Given the description of an element on the screen output the (x, y) to click on. 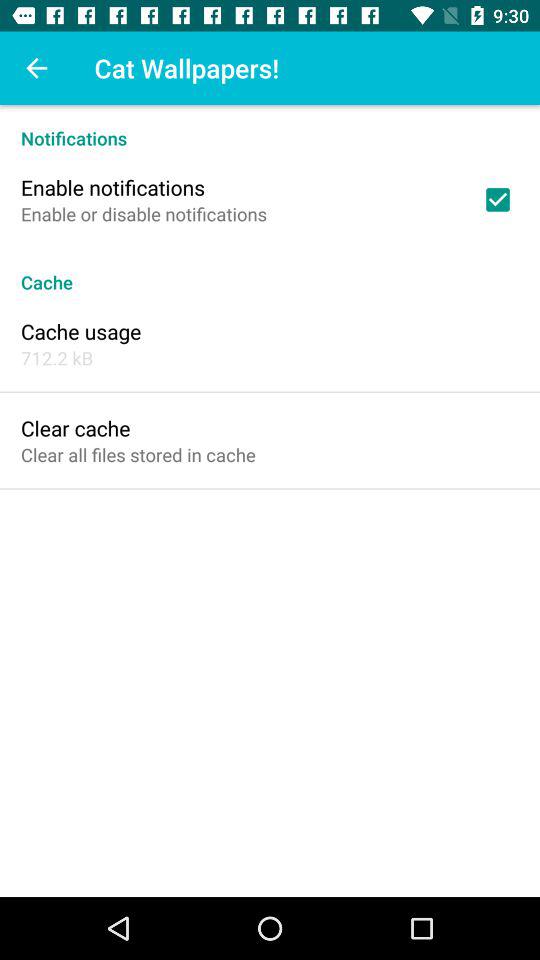
launch the icon above the notifications icon (36, 68)
